Given the description of an element on the screen output the (x, y) to click on. 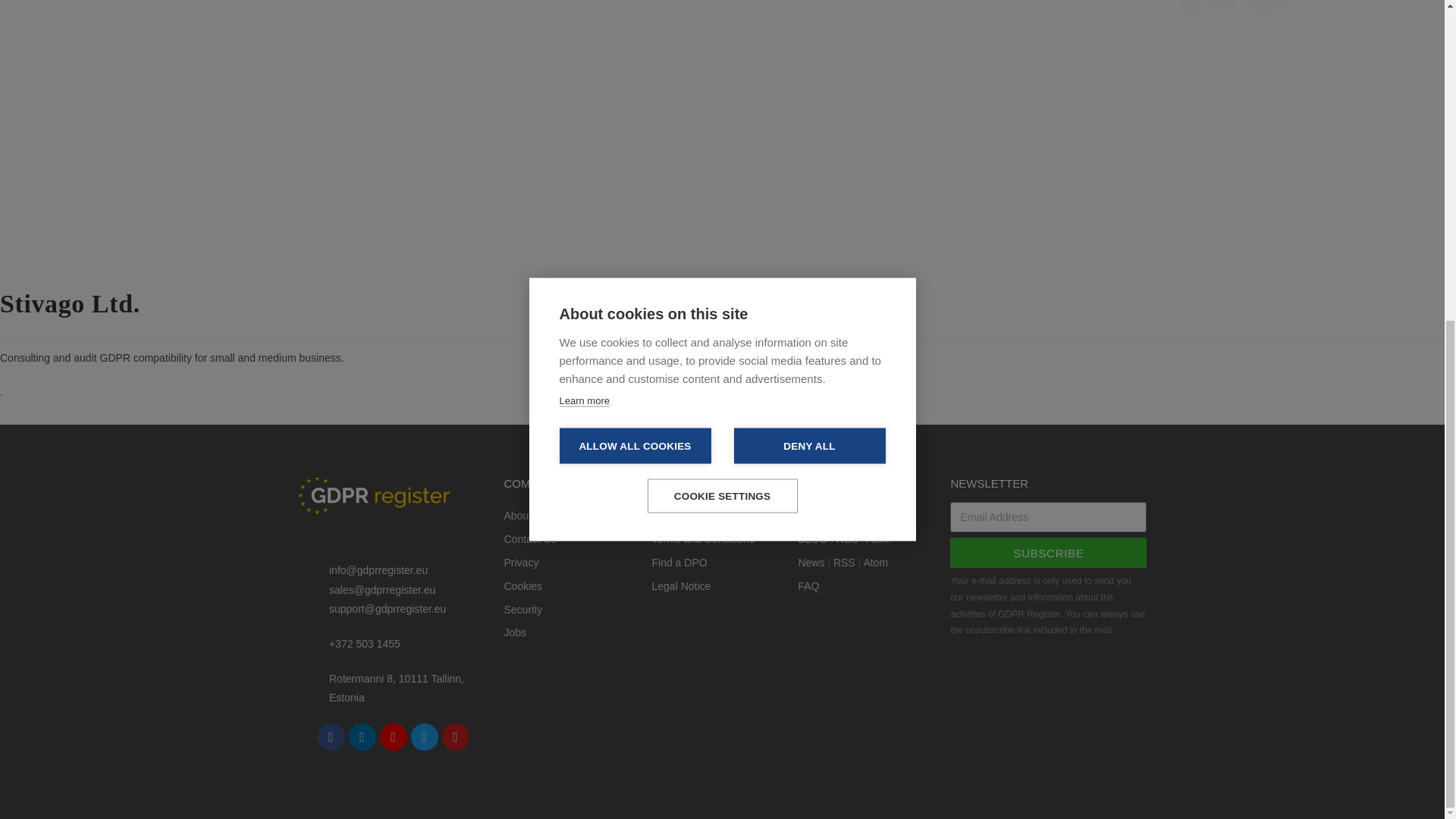
gdpr-register-logo-bgblue-decenter (372, 496)
